Given the description of an element on the screen output the (x, y) to click on. 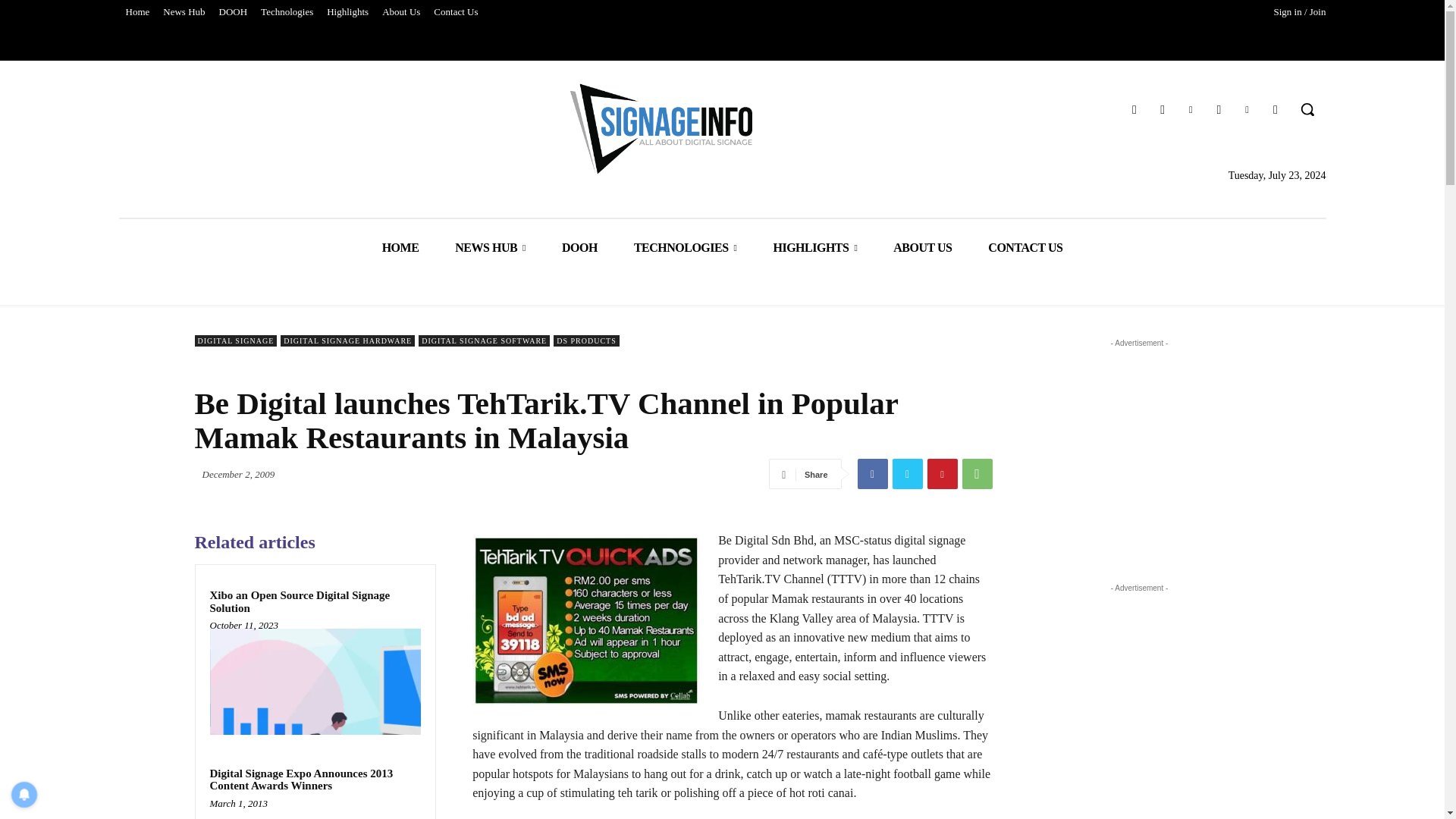
Google News (1275, 109)
Contact Us (455, 12)
Twitter (1134, 109)
Linkedin (1246, 109)
Highlights (347, 12)
About Us (400, 12)
Pinterest (1190, 109)
Facebook (1163, 109)
DOOH (233, 12)
Technologies (286, 12)
Home (136, 12)
Instagram (1218, 109)
News Hub (183, 12)
